Given the description of an element on the screen output the (x, y) to click on. 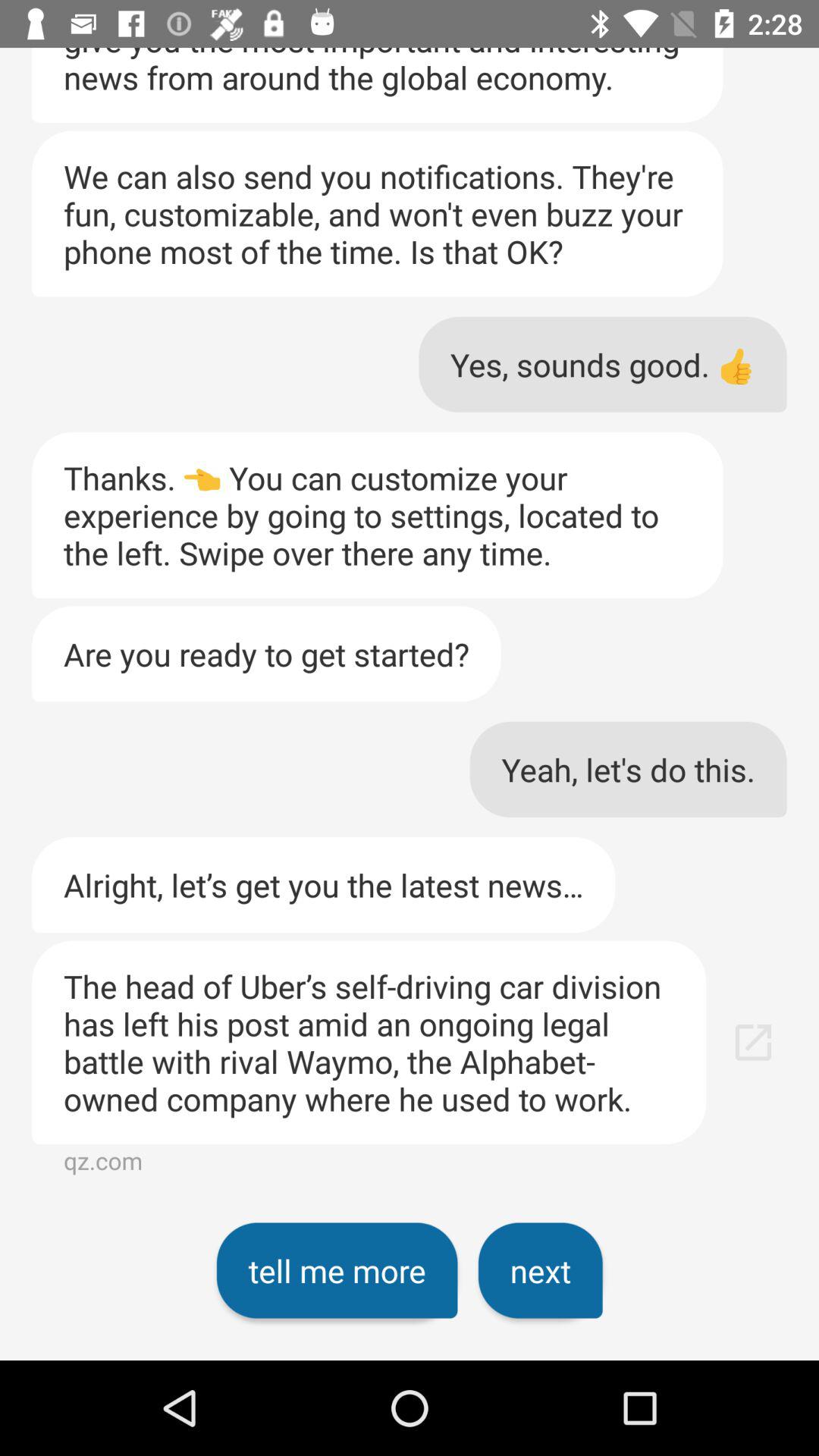
choose icon below the the head of (540, 1270)
